Given the description of an element on the screen output the (x, y) to click on. 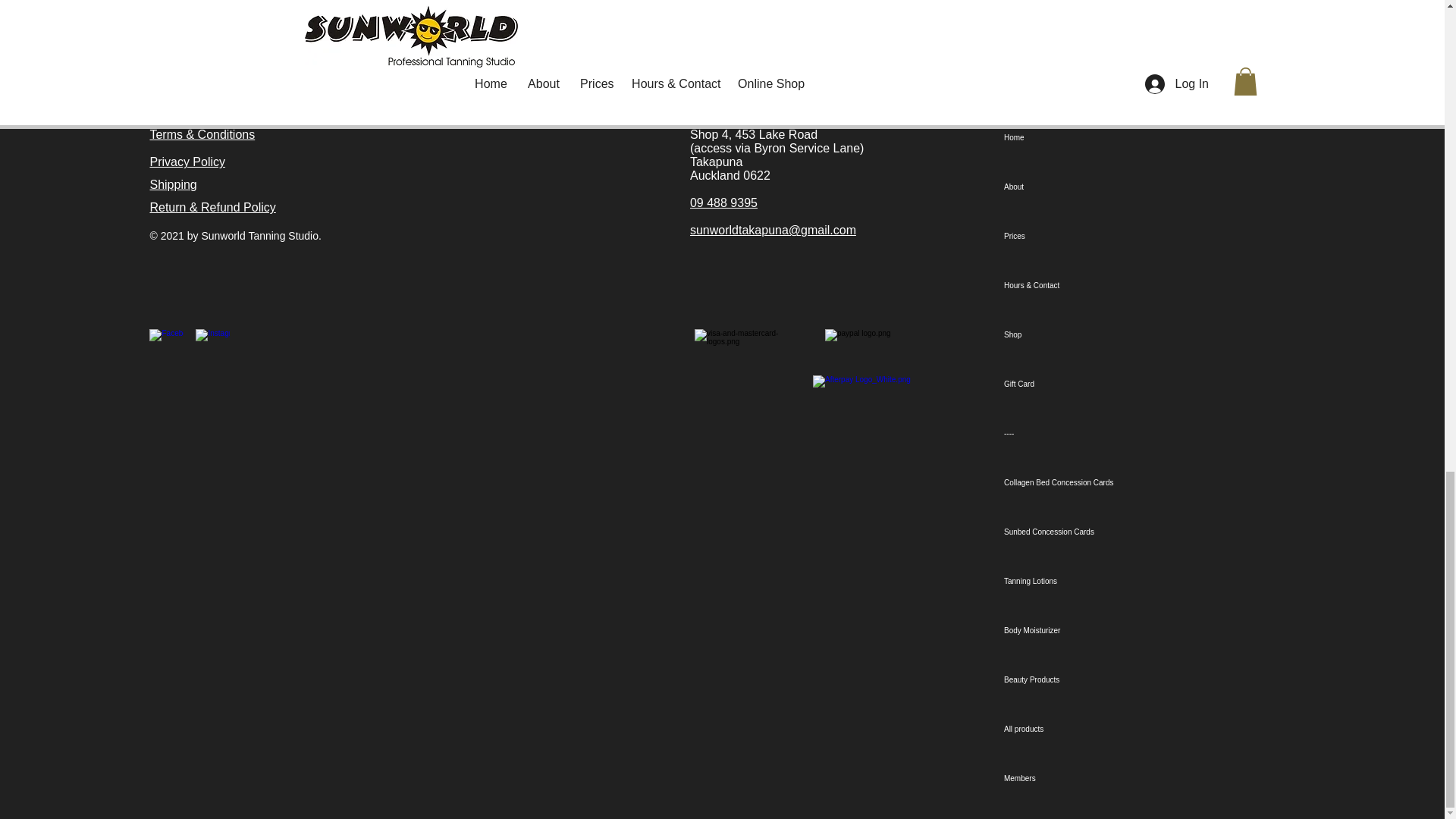
Prices (1087, 236)
Privacy Policy (187, 161)
---- (1087, 432)
Home (1087, 137)
Shop (1087, 334)
About (1087, 186)
Shipping (172, 184)
09 488 9395 (723, 202)
Gift Card (1087, 383)
